Given the description of an element on the screen output the (x, y) to click on. 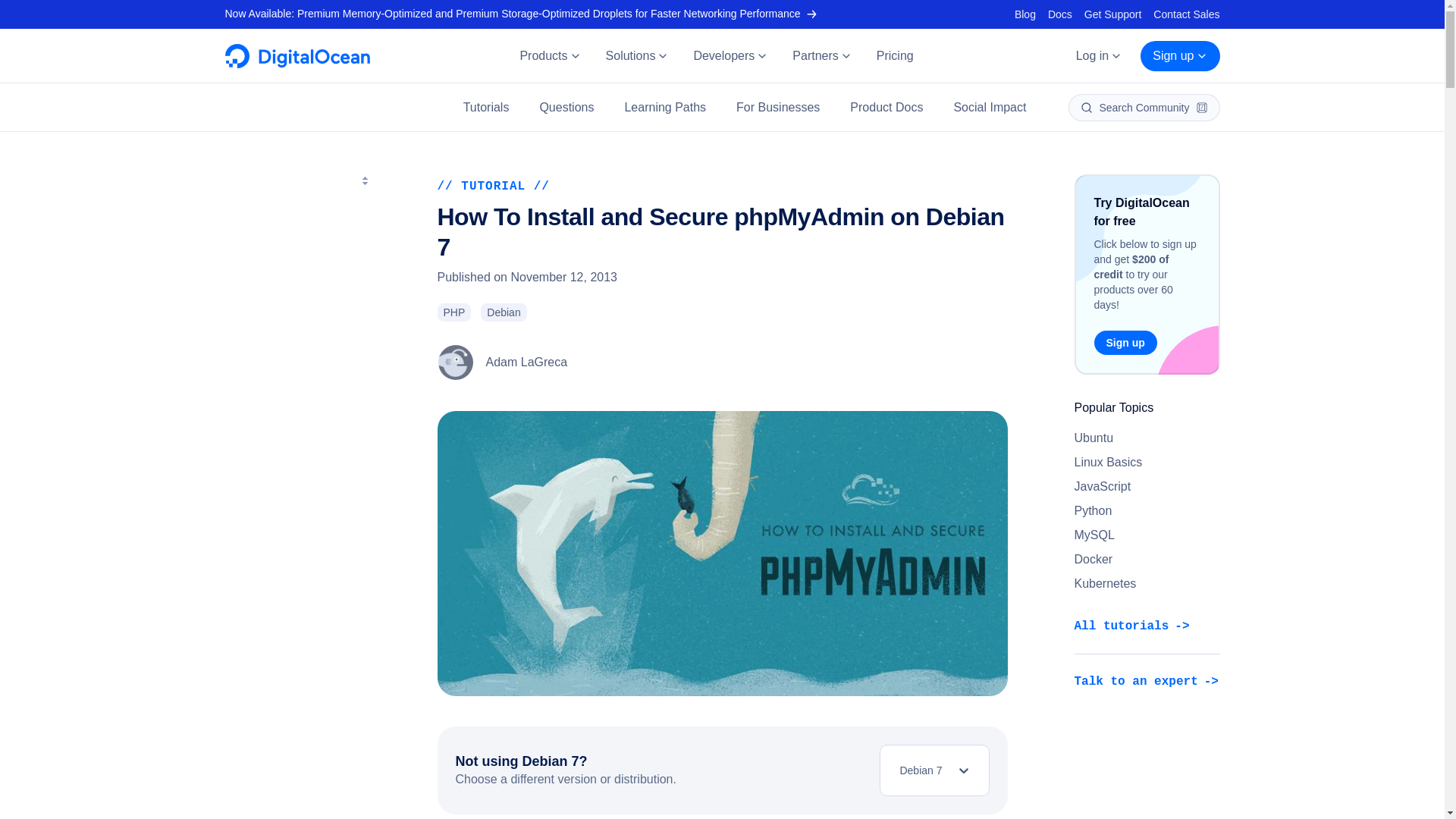
Products (549, 55)
Debian (502, 312)
Get Support (1112, 14)
Blog (1024, 14)
Docs (1059, 14)
DigitalOcean (296, 63)
Contact Sales (1186, 14)
PHP (453, 312)
